Given the description of an element on the screen output the (x, y) to click on. 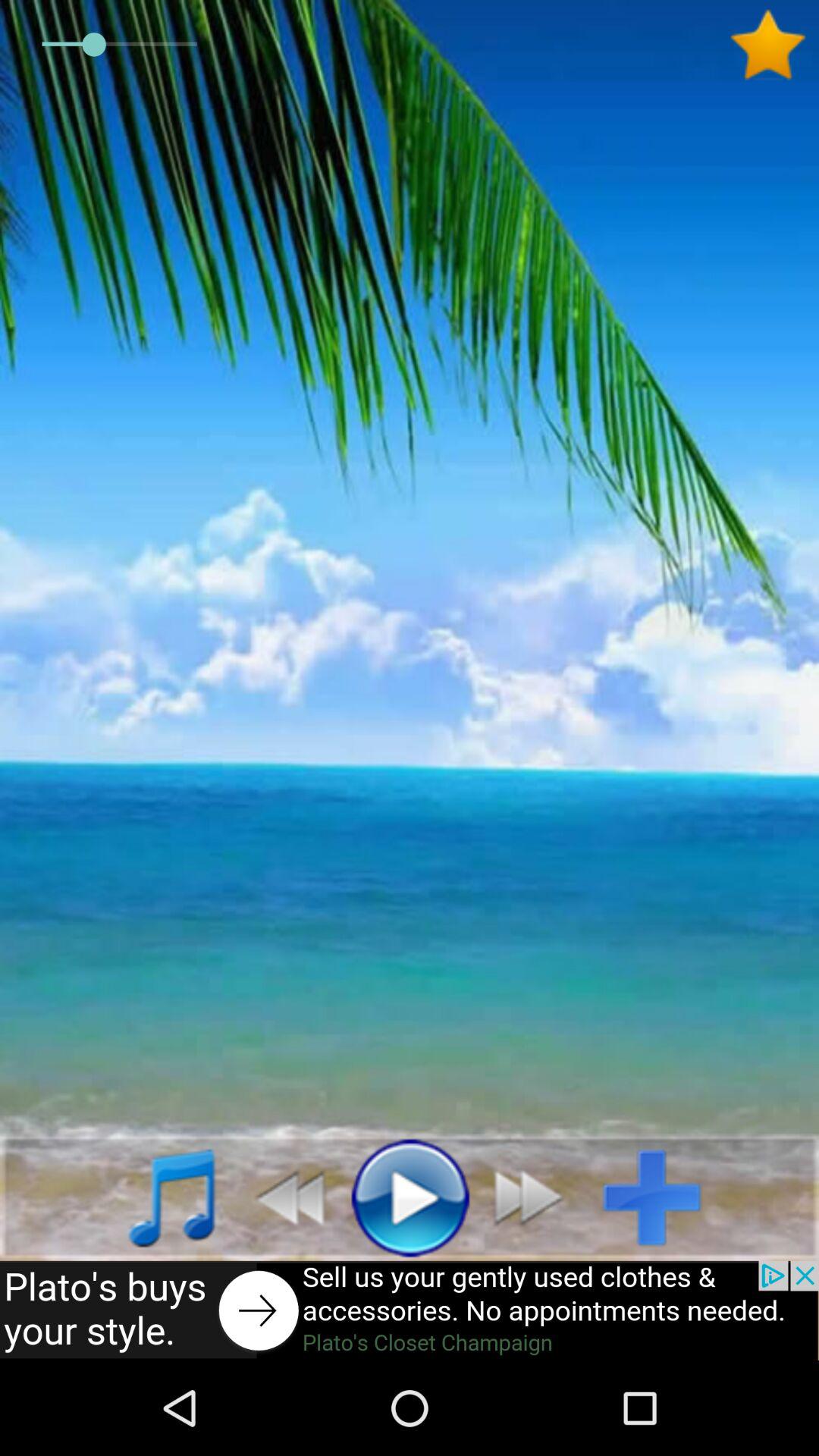
music play (409, 1196)
